Given the description of an element on the screen output the (x, y) to click on. 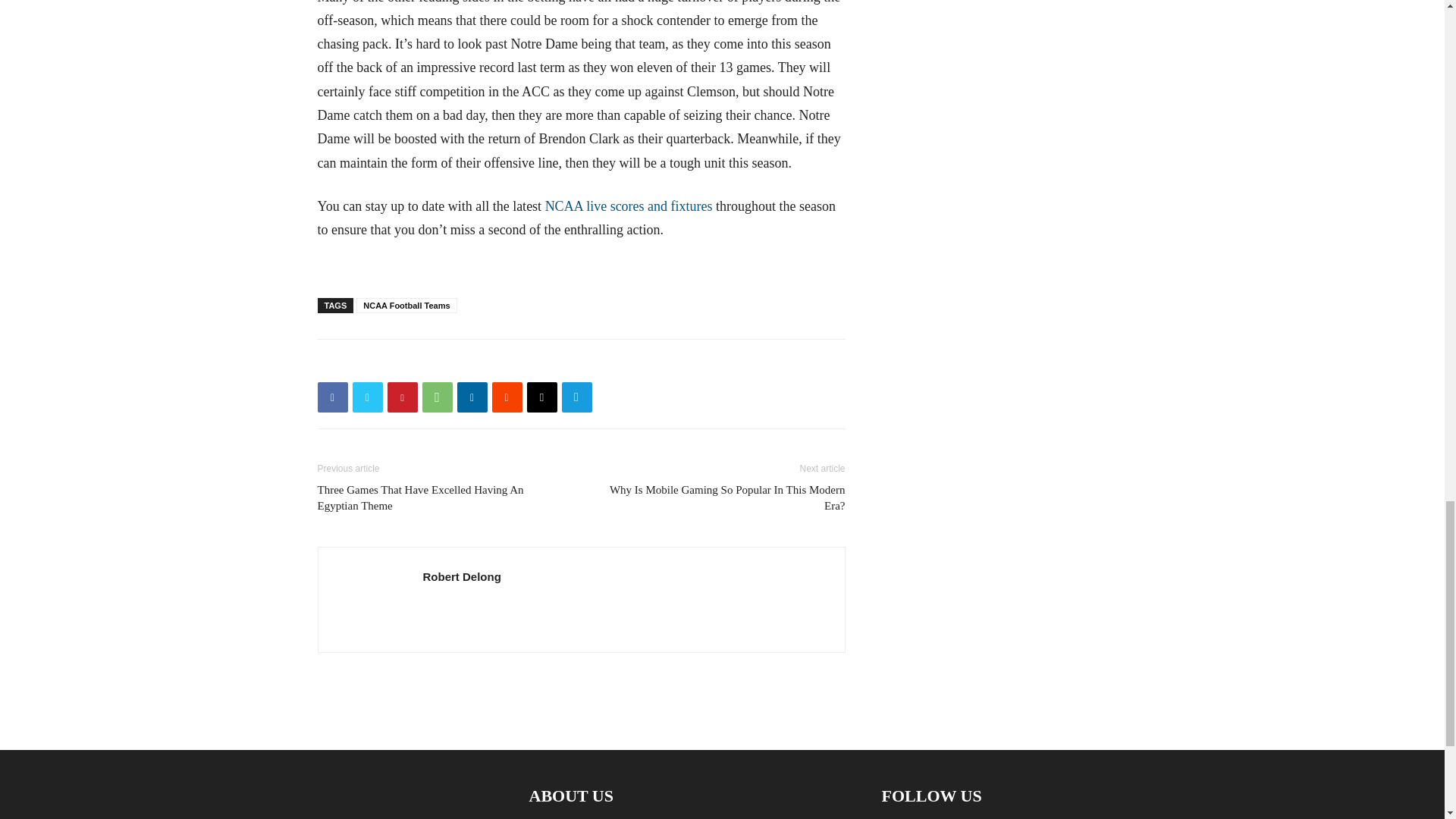
NCAA Football Teams (406, 305)
Twitter (366, 397)
Facebook (332, 397)
WhatsApp (436, 397)
Pinterest (401, 397)
Linkedin (471, 397)
NCAA live scores and fixtures (628, 206)
